Given the description of an element on the screen output the (x, y) to click on. 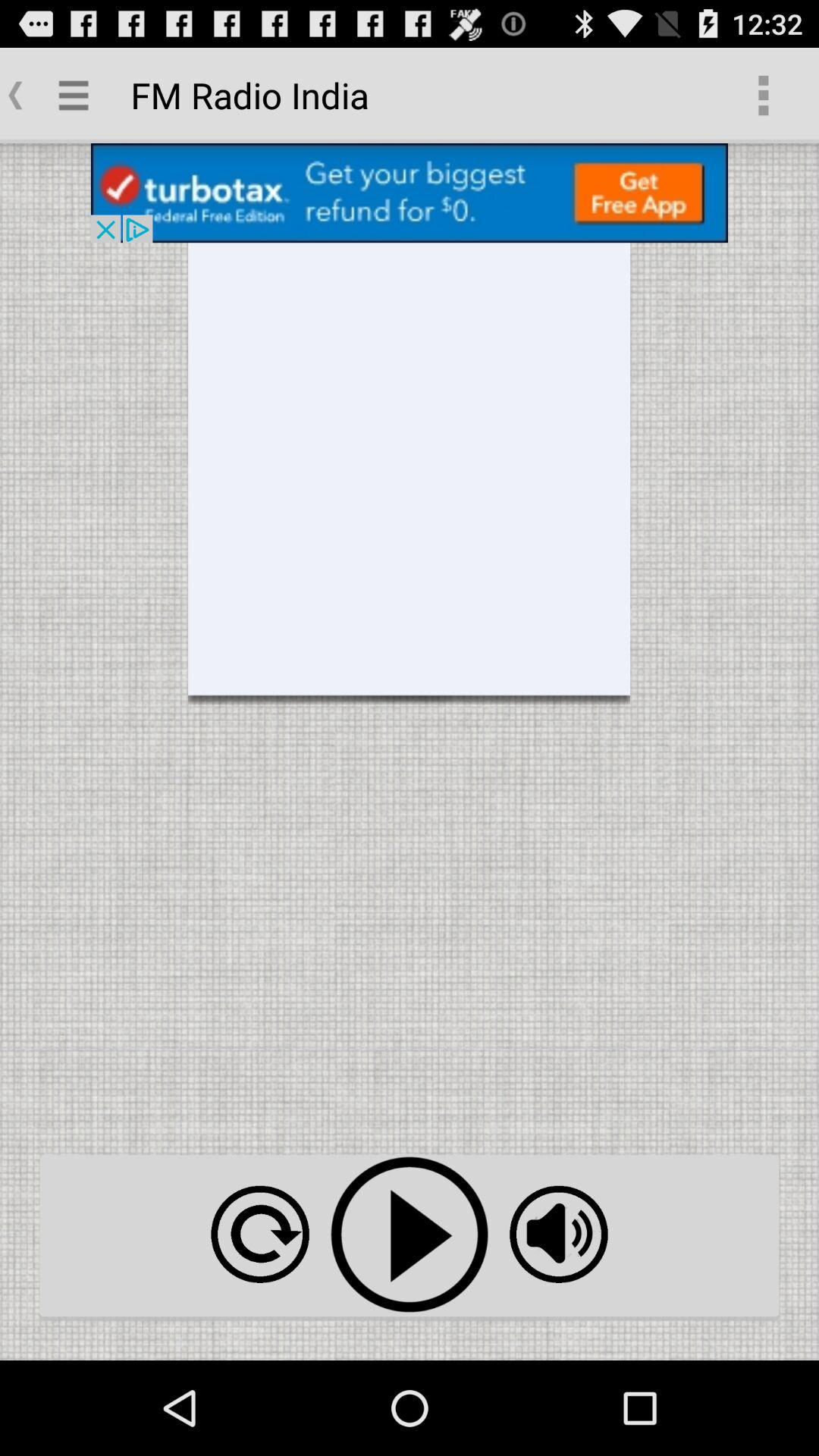
play this station (409, 1234)
